Given the description of an element on the screen output the (x, y) to click on. 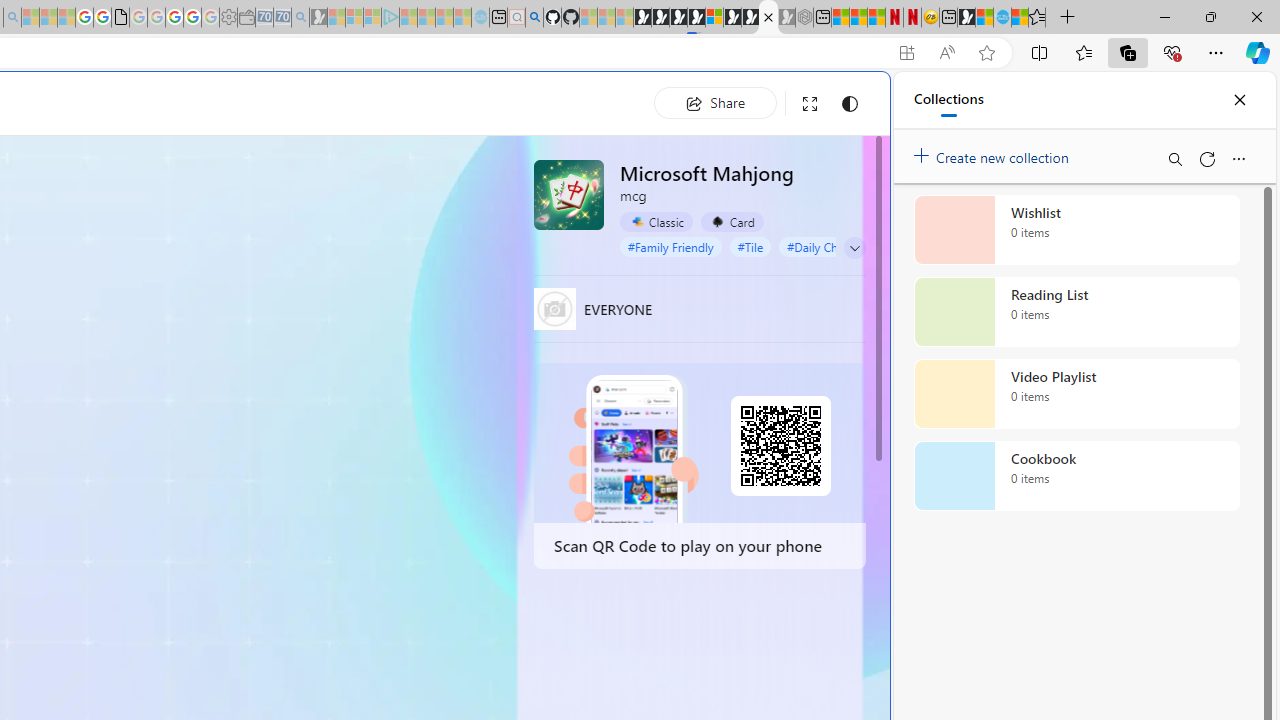
Sign in to your account (714, 17)
Classic (656, 222)
Classic (656, 221)
Reading List collection, 0 items (1076, 312)
Microsoft Mahjong (568, 194)
Class: expand-arrow neutral (854, 247)
